Given the description of an element on the screen output the (x, y) to click on. 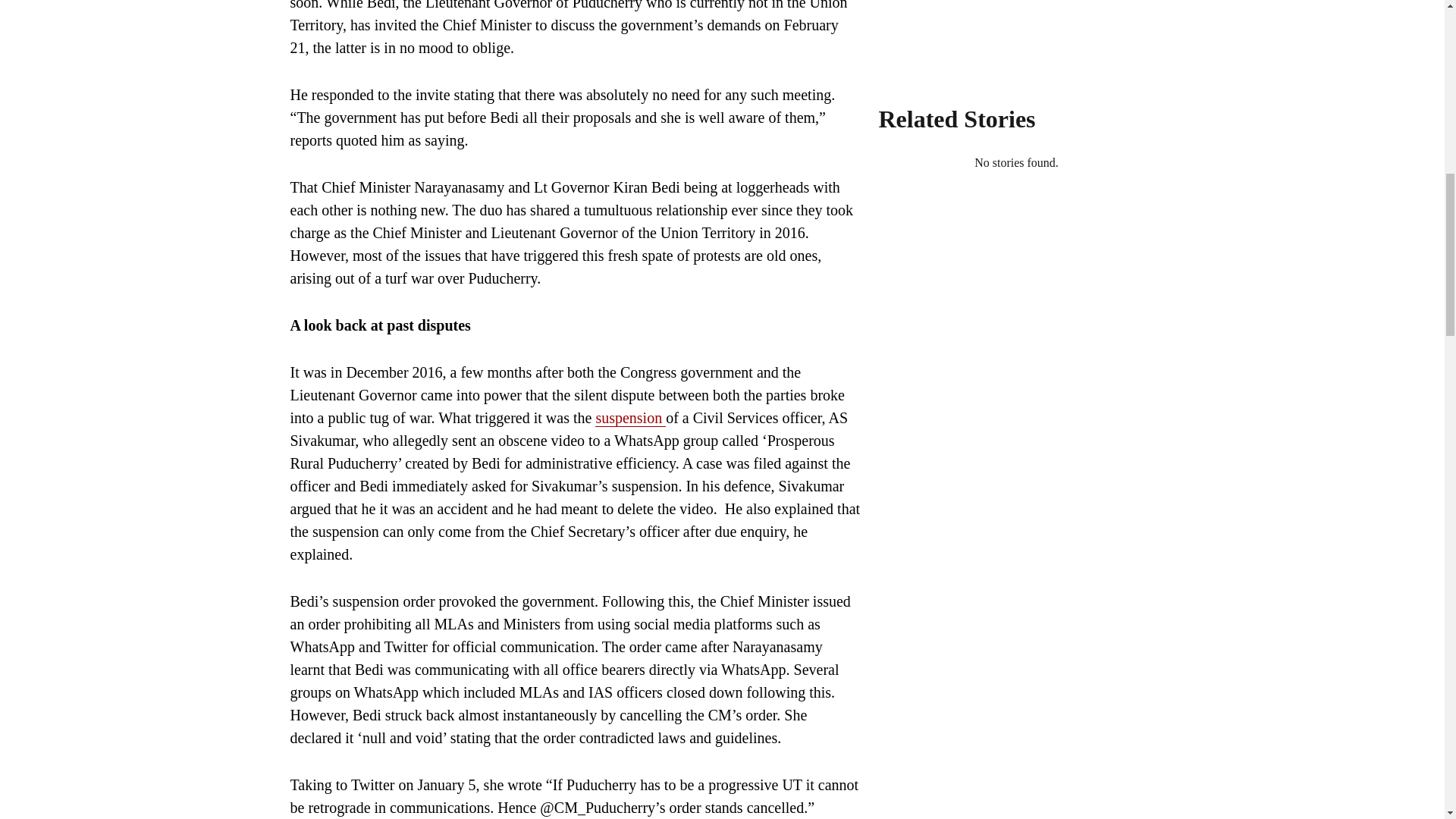
suspension (630, 417)
